Given the description of an element on the screen output the (x, y) to click on. 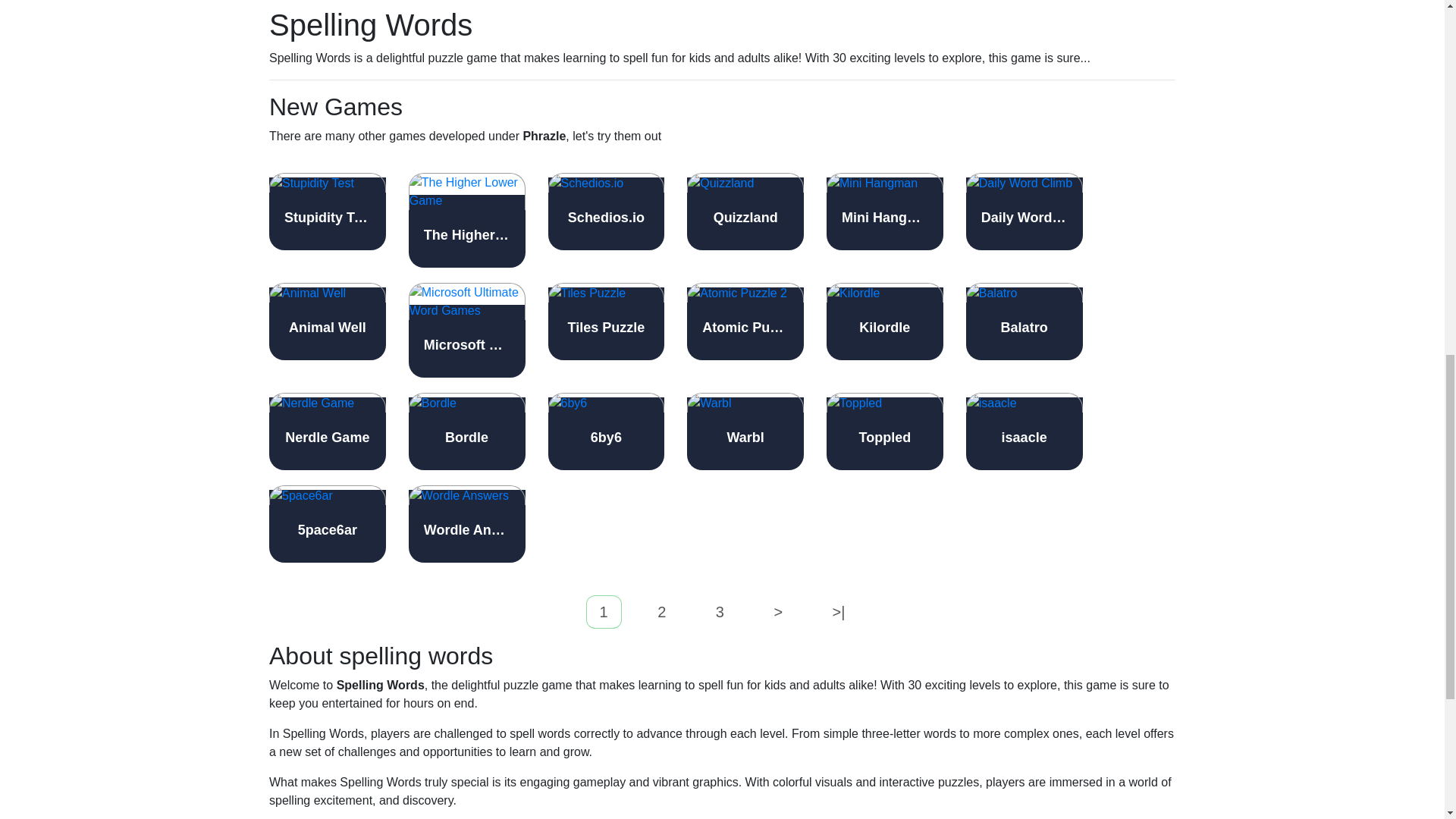
Tiles Puzzle (605, 321)
Play Bordle (467, 431)
Play Animal Well (327, 321)
Atomic Puzzle 2 (745, 321)
Play Tiles Puzzle (605, 321)
Play Quizzland (745, 211)
Play The Higher Lower Game (467, 219)
Quizzland (745, 211)
Mini Hangman (885, 211)
Play 6by6 (605, 431)
